Given the description of an element on the screen output the (x, y) to click on. 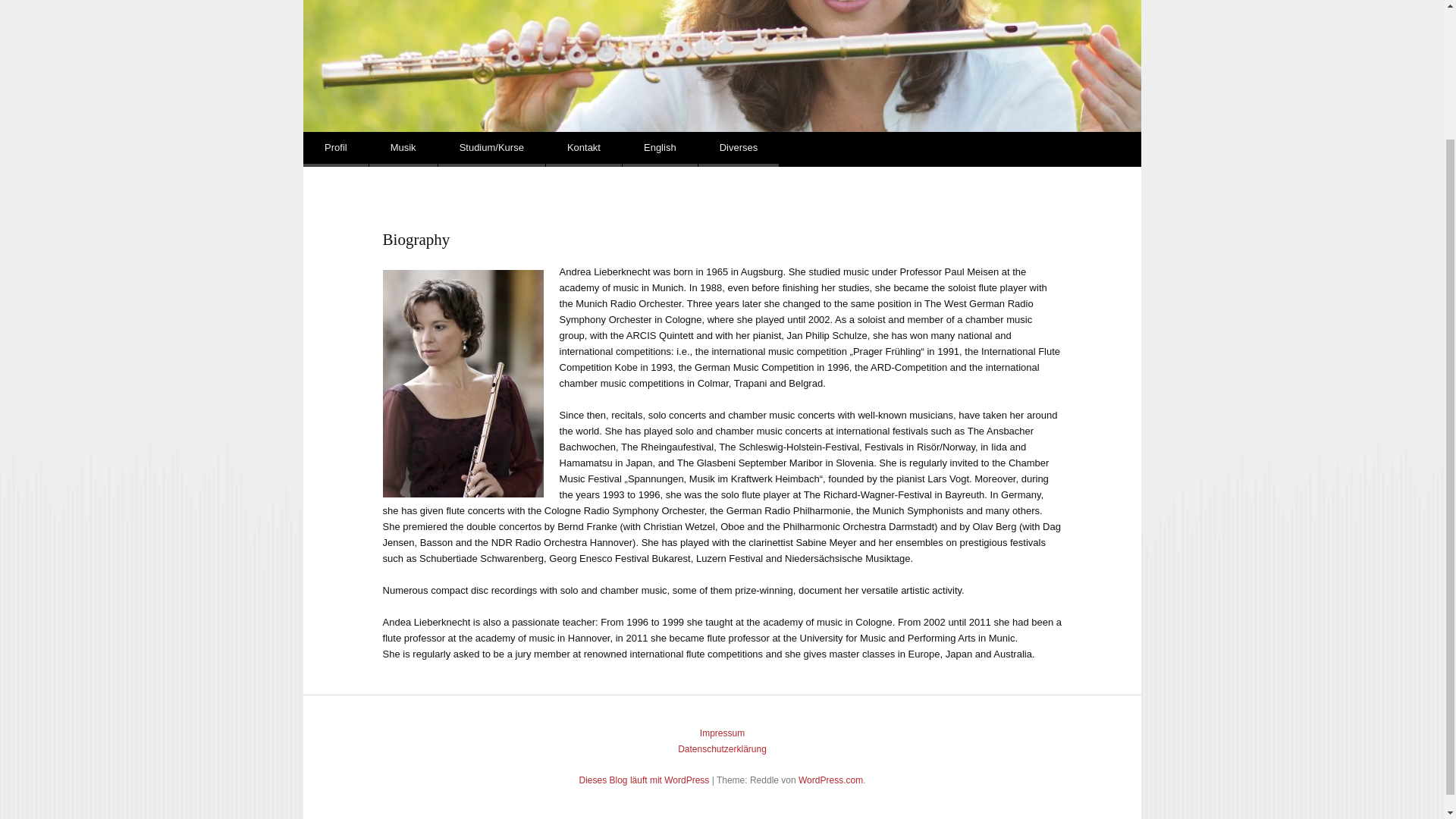
Springe zum Inhalt (365, 149)
Springe zum Inhalt (365, 149)
Profil (335, 149)
Musik (403, 149)
Kontakt (583, 149)
English (660, 149)
